Given the description of an element on the screen output the (x, y) to click on. 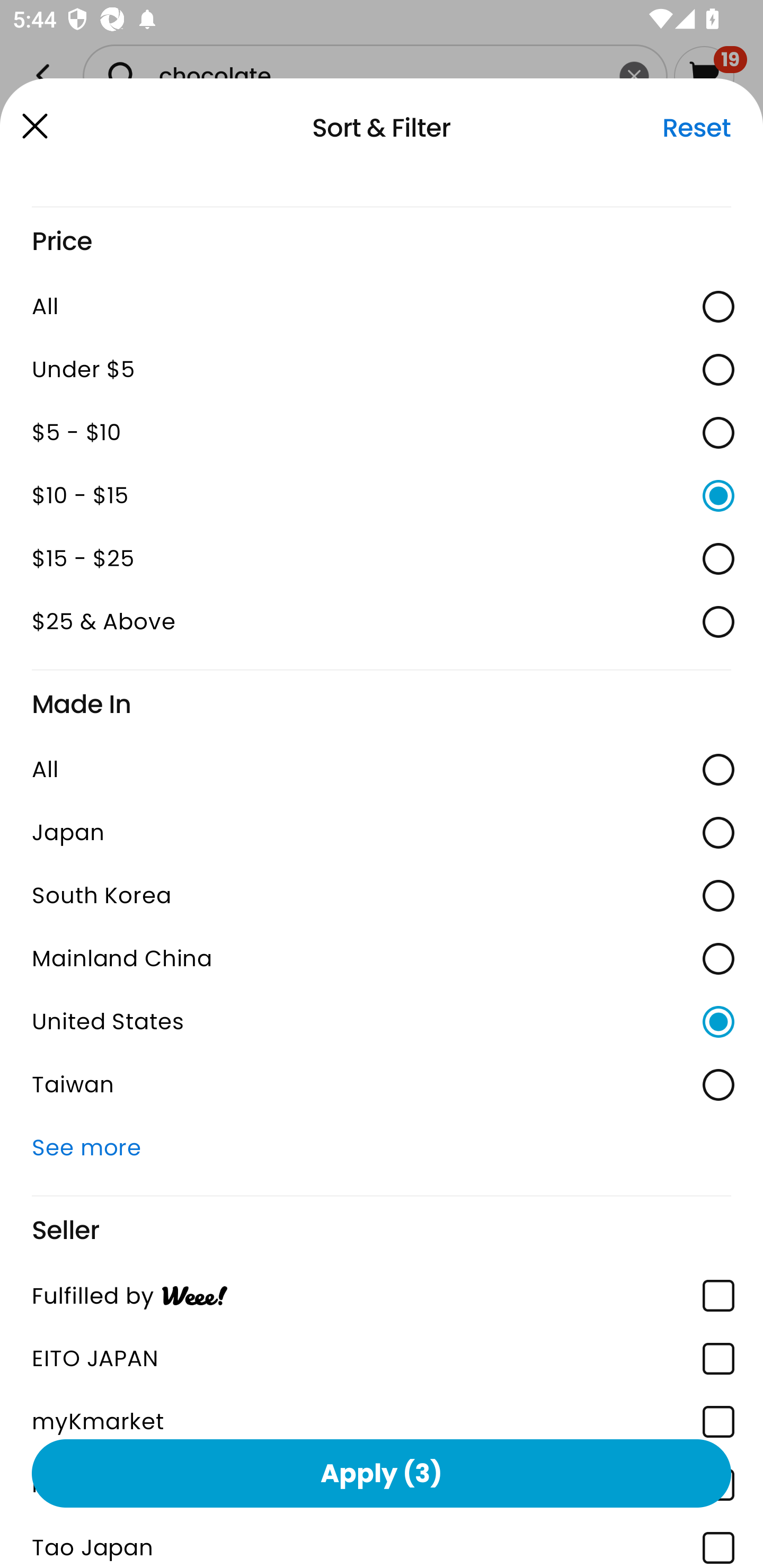
Reset (696, 127)
See more (381, 1147)
Apply (3) (381, 1472)
